Given the description of an element on the screen output the (x, y) to click on. 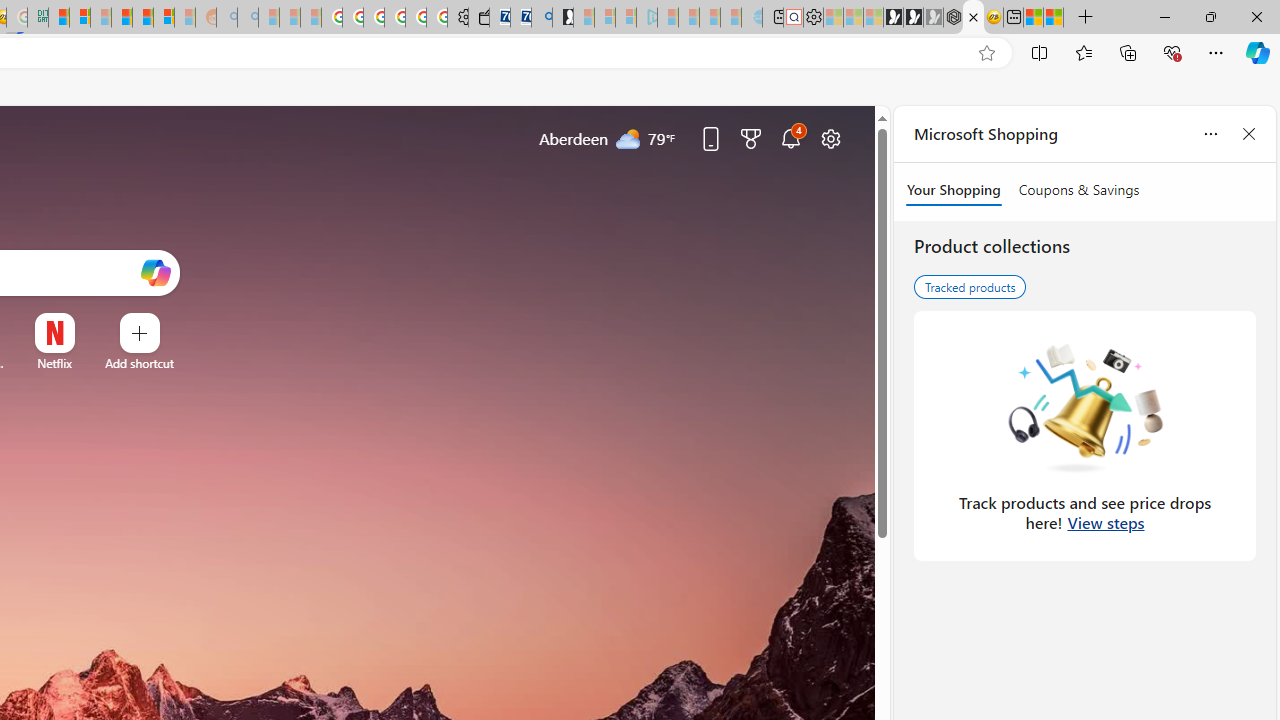
Netflix (54, 363)
Expert Portfolios (121, 17)
